Given the description of an element on the screen output the (x, y) to click on. 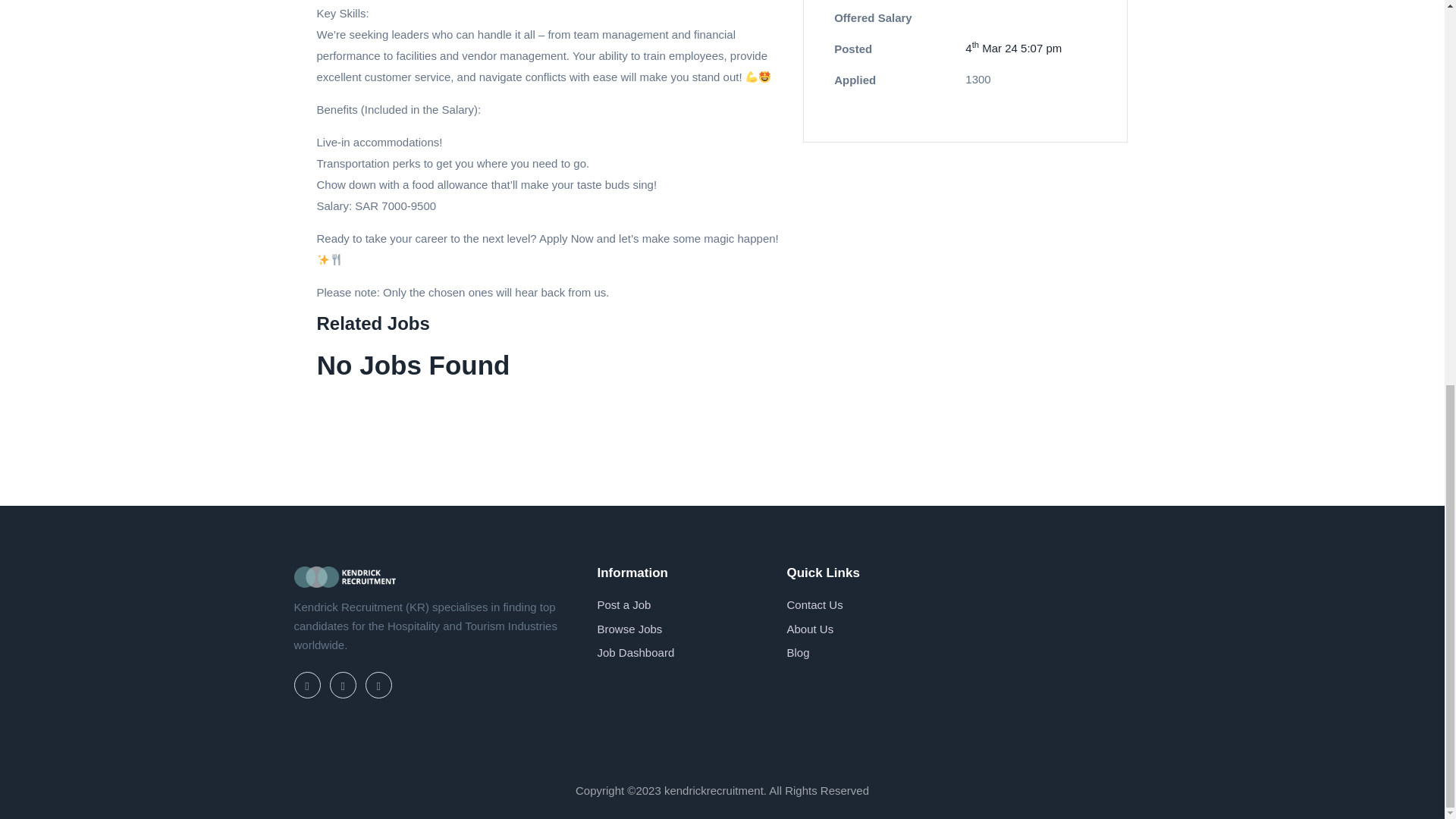
Post a Job (623, 604)
Contact Us (814, 604)
About Us (809, 628)
Browse Jobs (629, 628)
Job Dashboard (635, 652)
Blog (797, 652)
